Given the description of an element on the screen output the (x, y) to click on. 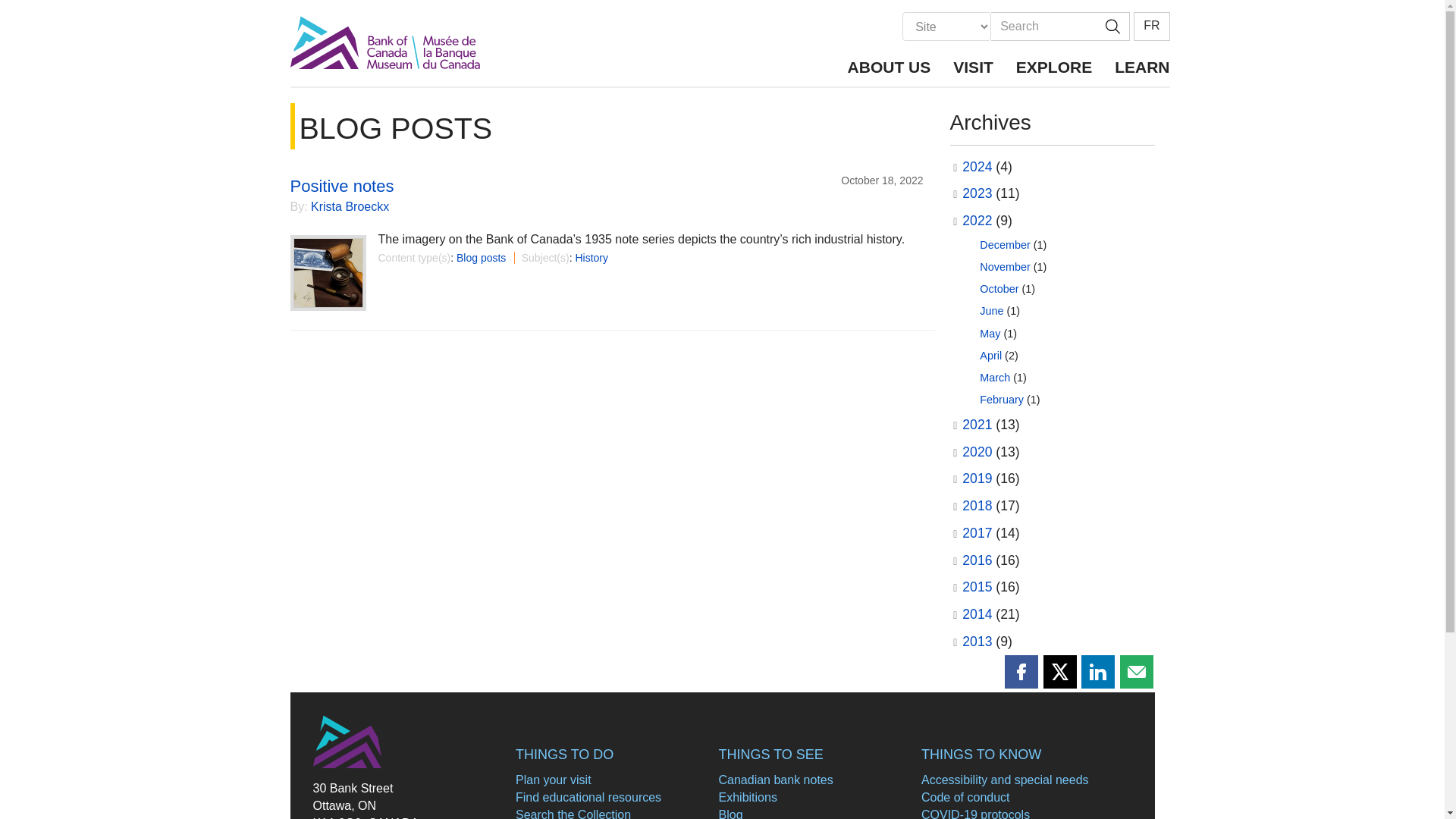
FR (1151, 26)
Assistant Curator (349, 205)
Share this page on LinkedIn (1098, 671)
Search (1043, 26)
VISIT (973, 65)
LEARN (1136, 65)
EXPLORE (1053, 65)
Share this page on X (1060, 671)
Share this page on Facebook (1021, 671)
ABOUT US (888, 65)
